Given the description of an element on the screen output the (x, y) to click on. 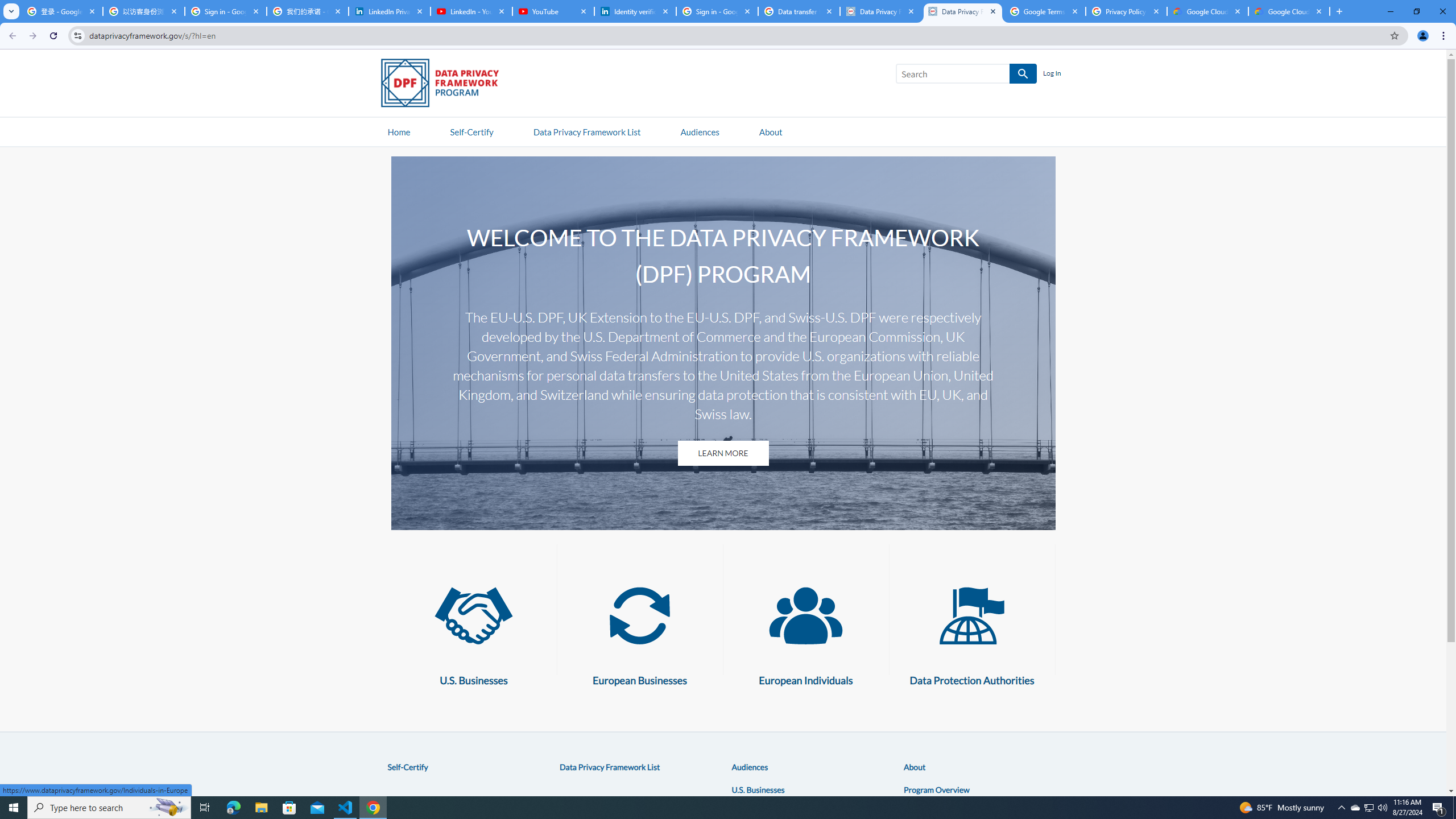
Self-Certify (407, 766)
YouTube (552, 11)
Data Privacy Framework (880, 11)
Sign in - Google Accounts (716, 11)
SEARCH (1022, 73)
European Individuals (805, 615)
Data Privacy Framework List (610, 766)
